Given the description of an element on the screen output the (x, y) to click on. 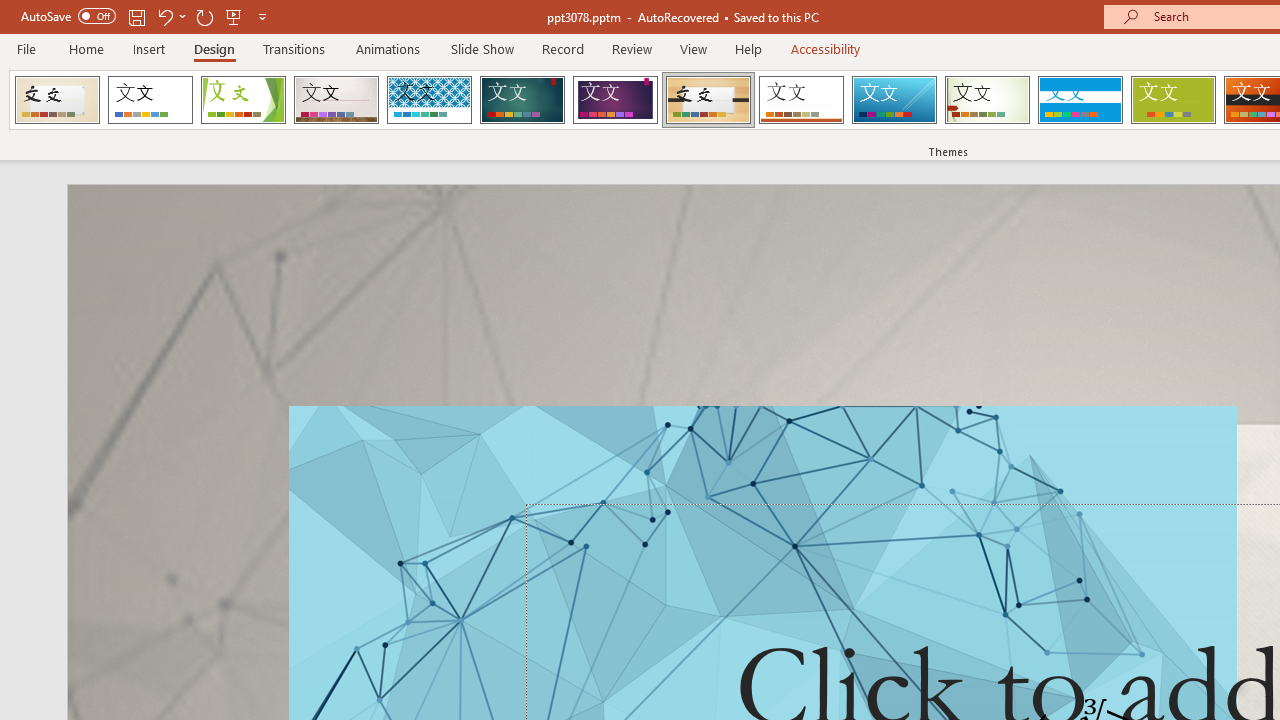
Redo (204, 15)
